Given the description of an element on the screen output the (x, y) to click on. 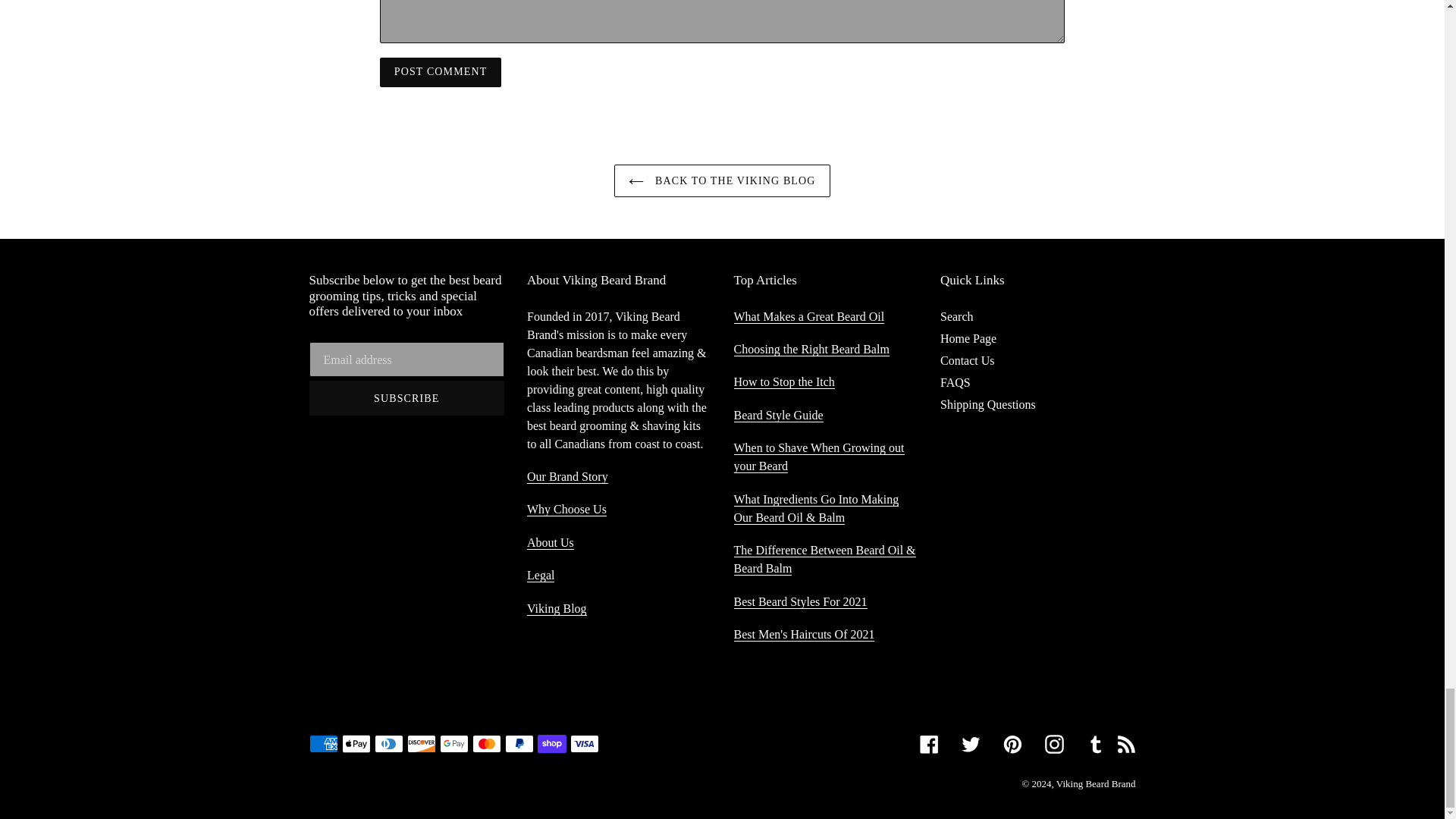
How to Stop the Itch (783, 382)
Choosing the Right Beard Balm for your Beard (811, 349)
Best Men's Haircuts Of 2021 (804, 634)
What Makes a Great Beard Oil (809, 316)
Great Beard Styles And What They Look Like (778, 415)
Our Brand Story (567, 477)
Post comment (440, 71)
Why Choose Us? (567, 509)
Should I shave when I'm growing out my beard? (818, 457)
THE VIKING BLOG (556, 608)
